Given the description of an element on the screen output the (x, y) to click on. 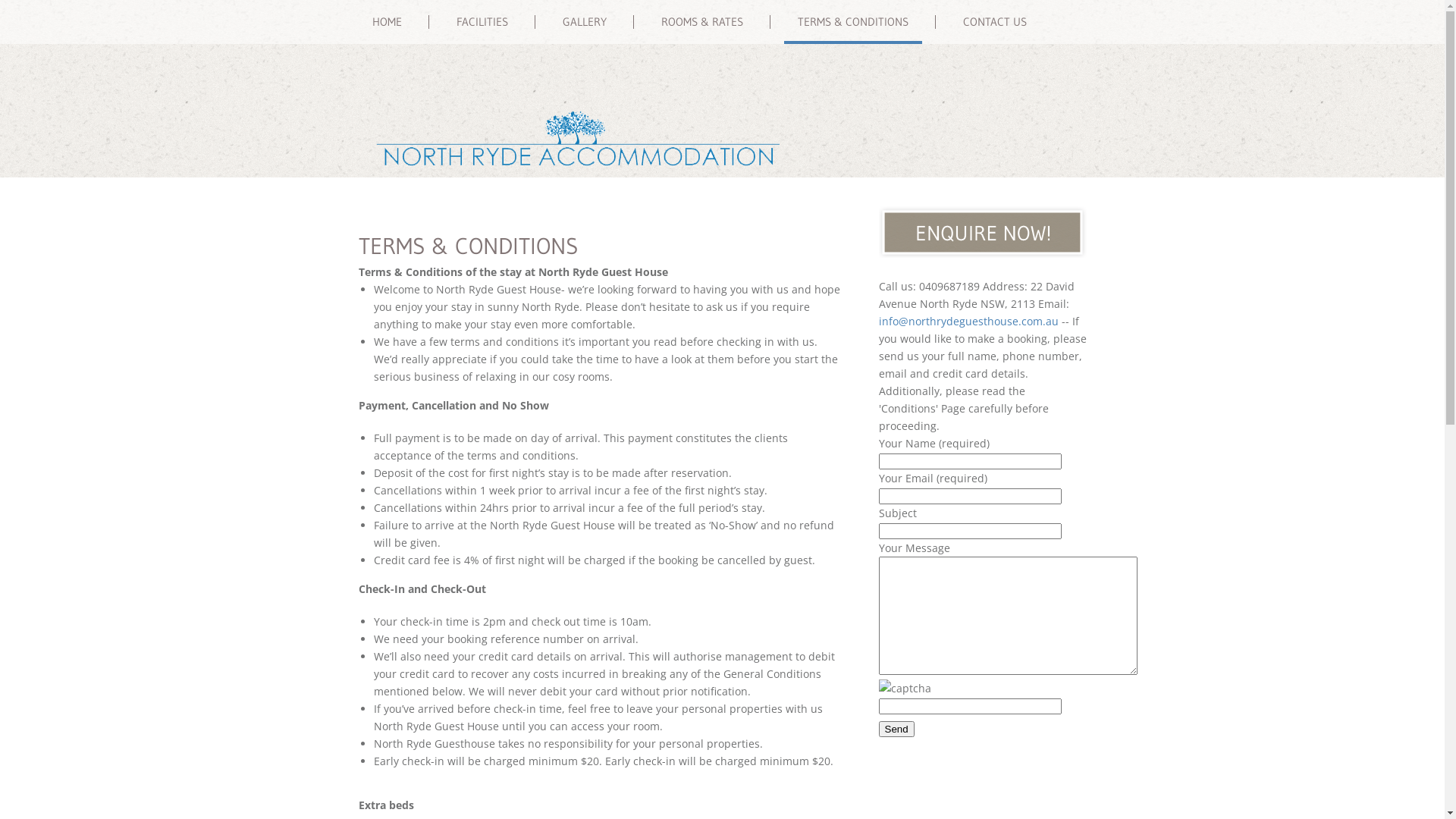
HOME Element type: text (385, 23)
ROOMS & RATES Element type: text (701, 23)
info@northrydeguesthouse.com.au Element type: text (967, 320)
GALLERY Element type: text (584, 23)
Send Element type: text (895, 729)
TERMS & CONDITIONS Element type: text (853, 23)
NORTH RYDE GUEST HOUSE Element type: text (575, 141)
CONTACT US Element type: text (994, 23)
FACILITIES Element type: text (481, 23)
